Given the description of an element on the screen output the (x, y) to click on. 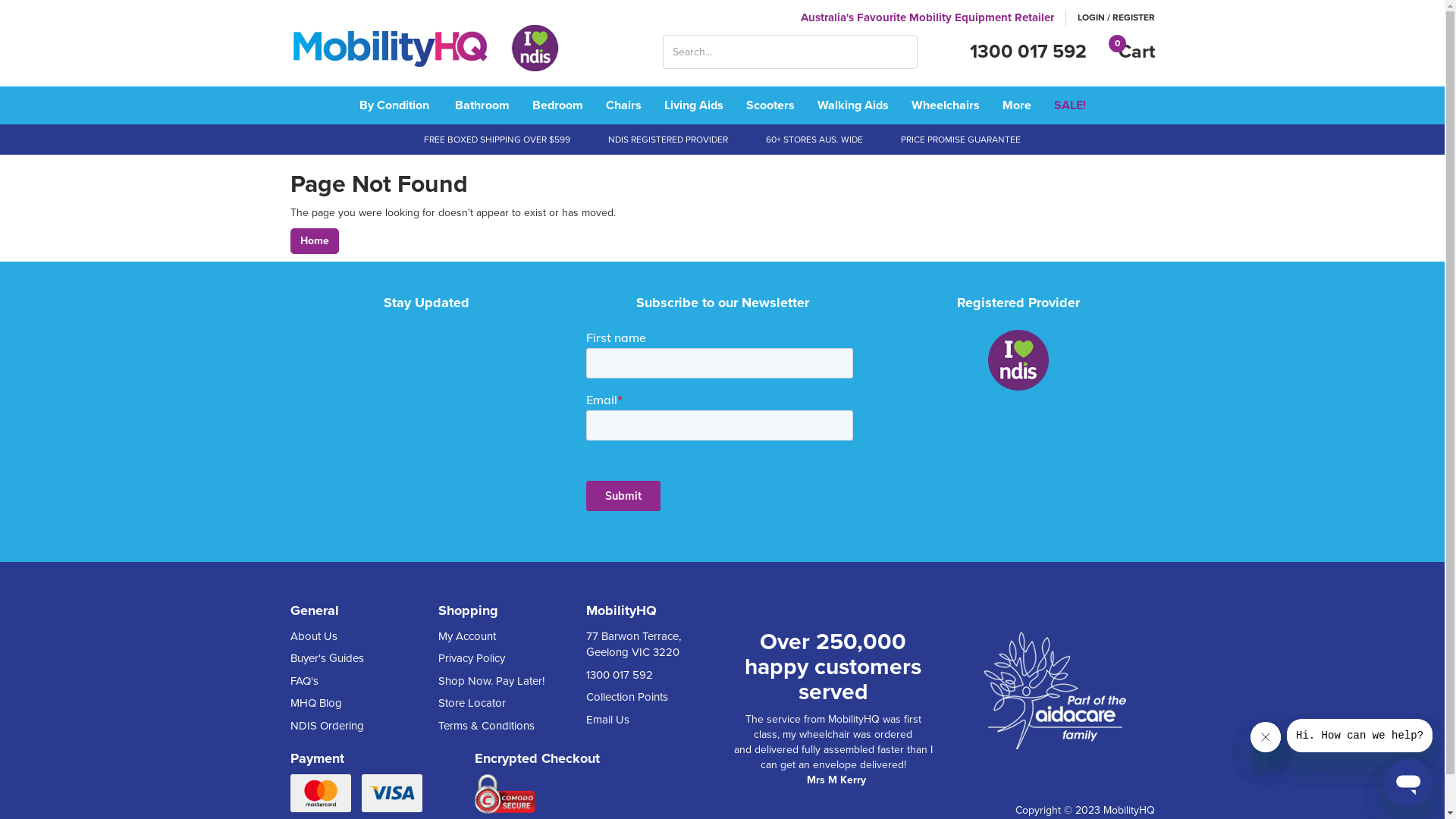
Button to launch messaging window Element type: hover (1407, 782)
Message from company Element type: hover (1359, 735)
Form 0 Element type: hover (721, 426)
NDIS Ordering Element type: text (347, 725)
Bathroom Element type: text (481, 105)
LOGIN / REGISTER Element type: text (1115, 17)
Chairs Element type: text (623, 105)
1300 017 592 Element type: text (642, 675)
Shop Now. Pay Later! Element type: text (494, 681)
NDIS REGISTERED PROVIDER Element type: text (668, 139)
FREE BOXED SHIPPING OVER $599 Element type: text (496, 139)
Wheelchairs Element type: text (944, 105)
Walking Aids Element type: text (852, 105)
Living Aids Element type: text (693, 105)
About Us Element type: text (347, 636)
1300 017 592 Element type: text (1027, 51)
Bedroom Element type: text (556, 105)
My Account Element type: text (494, 636)
Close message Element type: hover (1265, 736)
77 Barwon Terrace, Geelong VIC 3220 Element type: text (642, 644)
Privacy Policy Element type: text (494, 658)
SALE! Element type: text (1068, 105)
Home Element type: text (313, 241)
Buyer's Guides Element type: text (347, 658)
FAQ's Element type: text (347, 681)
MHQ Blog Element type: text (347, 703)
60+ STORES AUS. WIDE Element type: text (813, 139)
Terms & Conditions Element type: text (494, 725)
More Element type: text (1015, 105)
By Condition Element type: text (393, 105)
MobilityHQ Element type: hover (425, 49)
Scooters Element type: text (769, 105)
PRICE PROMISE GUARANTEE Element type: text (960, 139)
Store Locator Element type: text (494, 703)
0
Cart Element type: text (1128, 51)
Email Us Element type: text (642, 719)
Search Element type: text (906, 51)
Collection Points Element type: text (642, 697)
